Given the description of an element on the screen output the (x, y) to click on. 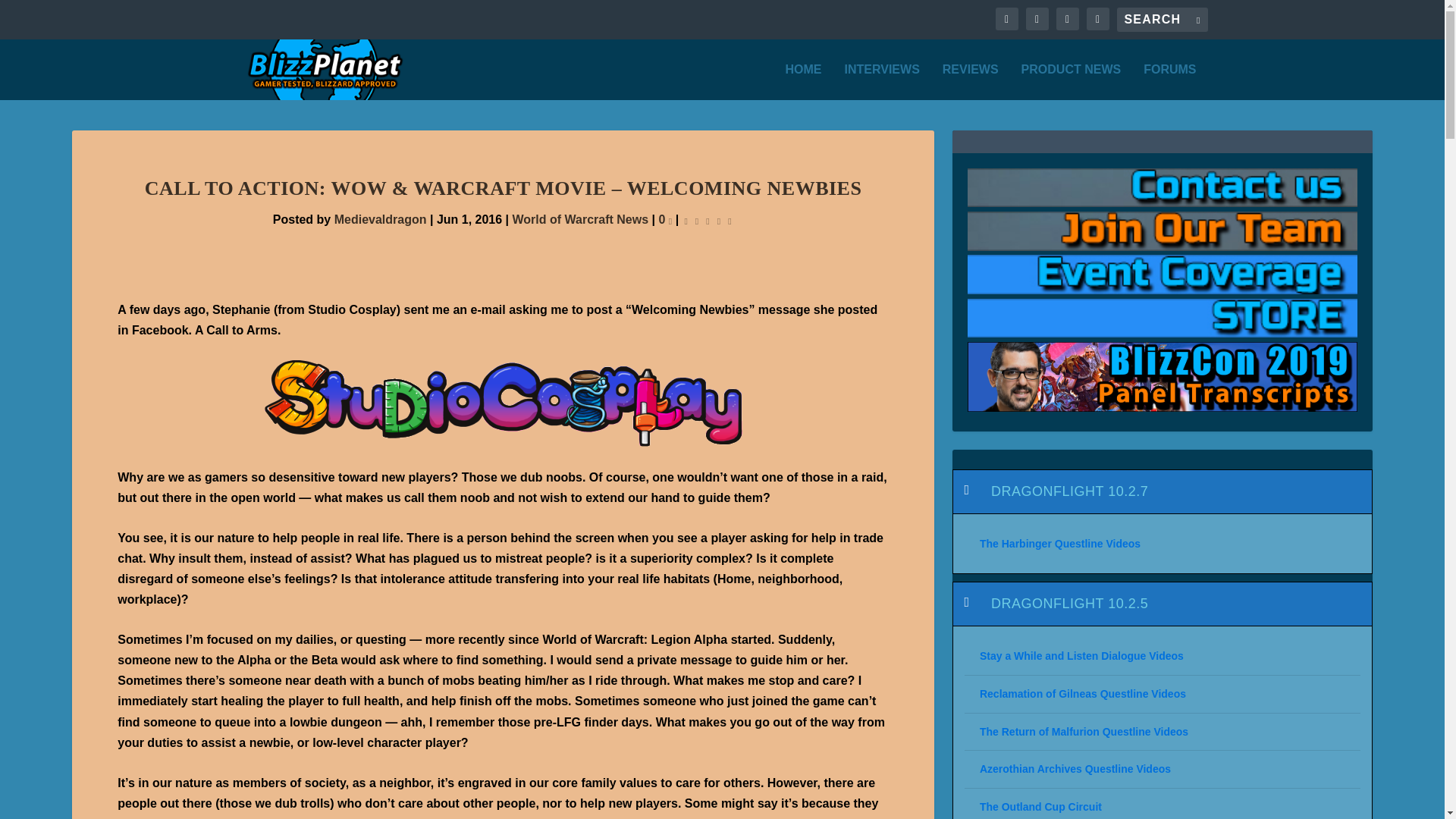
REVIEWS (970, 81)
Medievaldragon (380, 219)
Search for: (1161, 19)
FORUMS (1168, 81)
comment count (669, 220)
Posts by Medievaldragon (380, 219)
World of Warcraft News (580, 219)
INTERVIEWS (882, 81)
HOME (804, 81)
Rating: 0.00 (707, 219)
0 (664, 219)
PRODUCT NEWS (1071, 81)
